Given the description of an element on the screen output the (x, y) to click on. 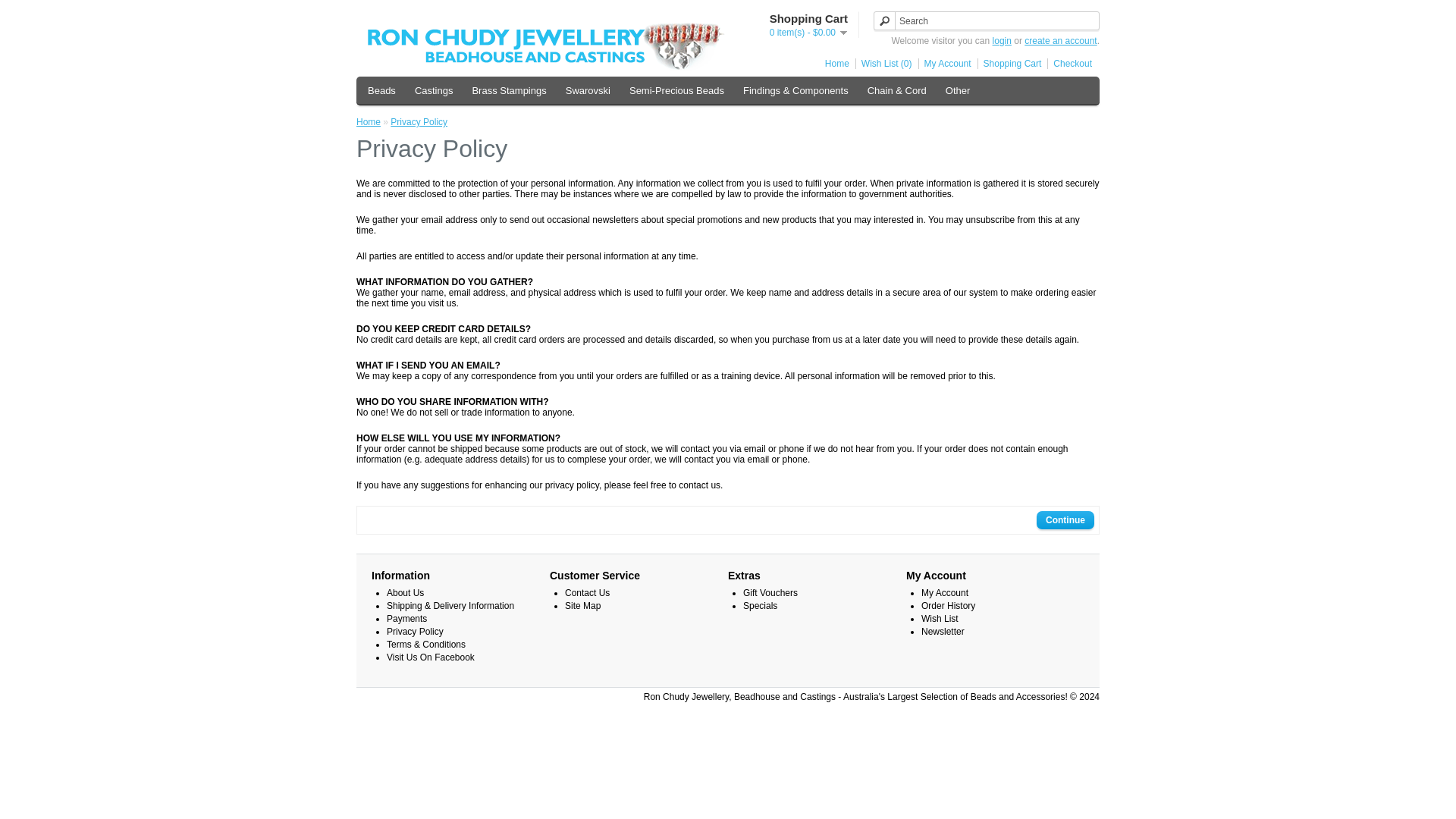
Shopping Cart (1009, 63)
Home (833, 63)
Brass Stampings (508, 90)
Checkout (1069, 63)
Beads (381, 90)
My Account (944, 63)
Castings (434, 90)
create an account (1060, 40)
Search (986, 20)
